Given the description of an element on the screen output the (x, y) to click on. 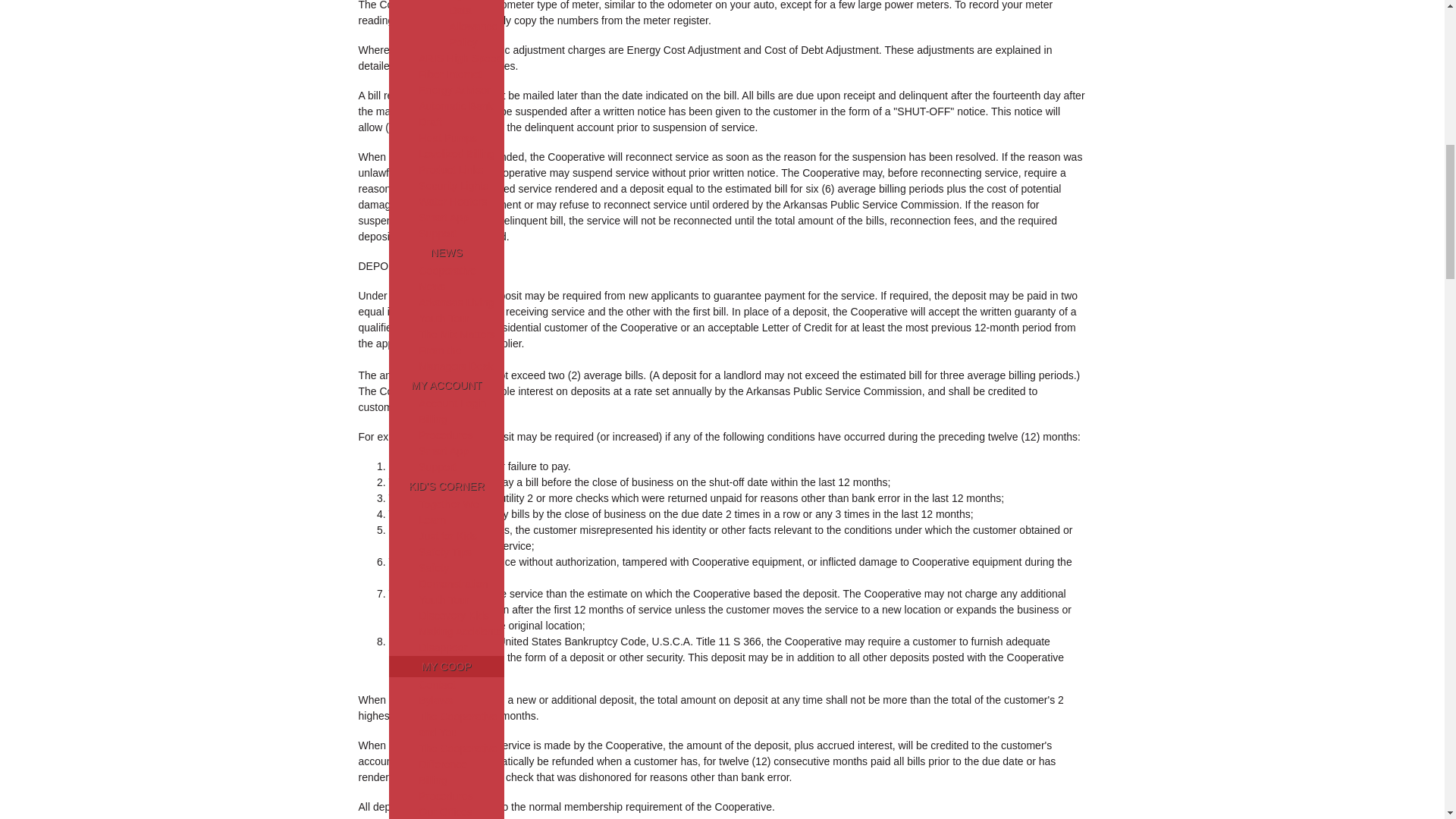
Data Allowance Policy (472, 26)
Viasat Agreement (474, 0)
ARIS High Speed Fiber Internet (460, 66)
